Given the description of an element on the screen output the (x, y) to click on. 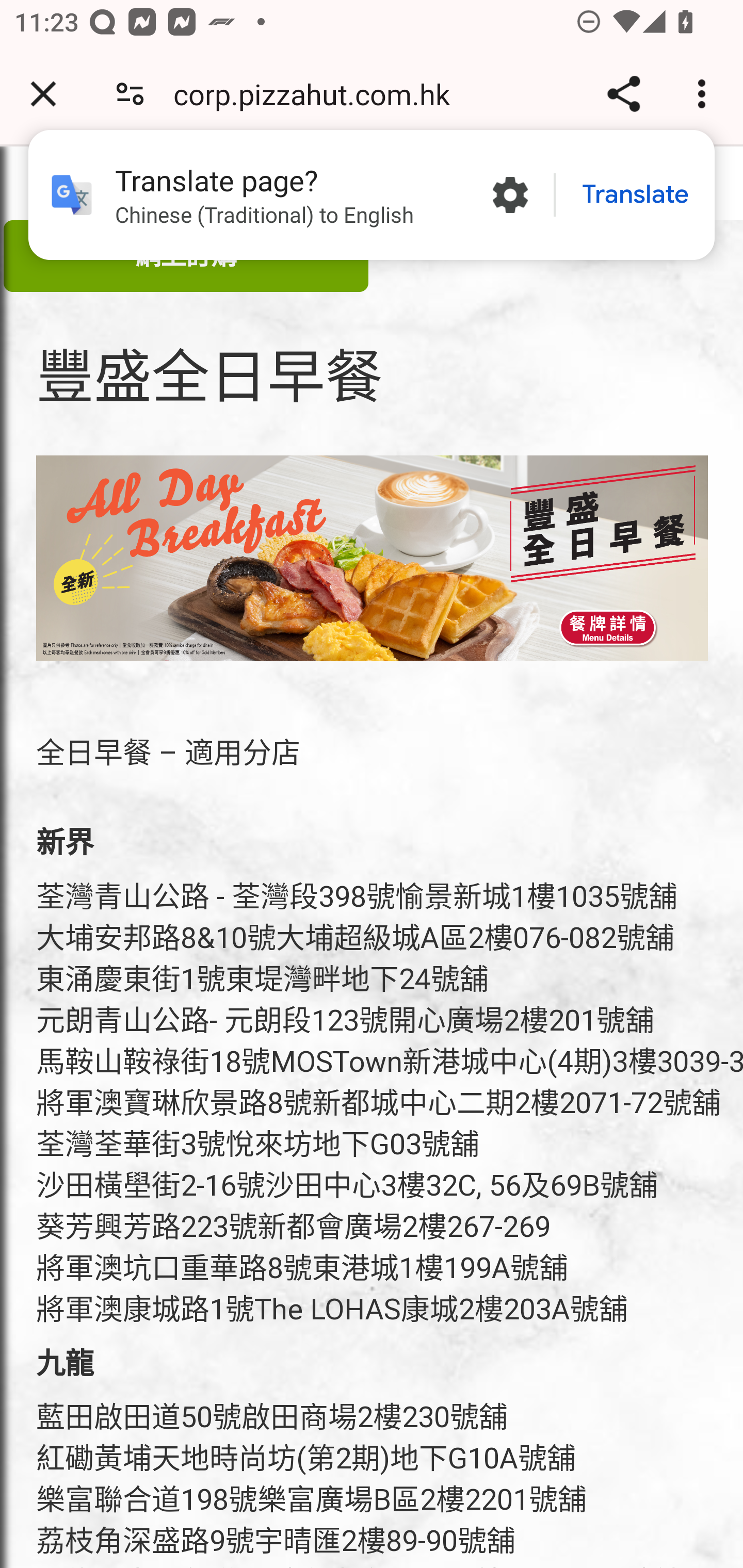
Close tab (43, 93)
Share (623, 93)
Customize and control Google Chrome (705, 93)
Connection is secure (129, 93)
corp.pizzahut.com.hk (318, 93)
Translate (634, 195)
More options in the Translate page? (509, 195)
menu (372, 557)
